Given the description of an element on the screen output the (x, y) to click on. 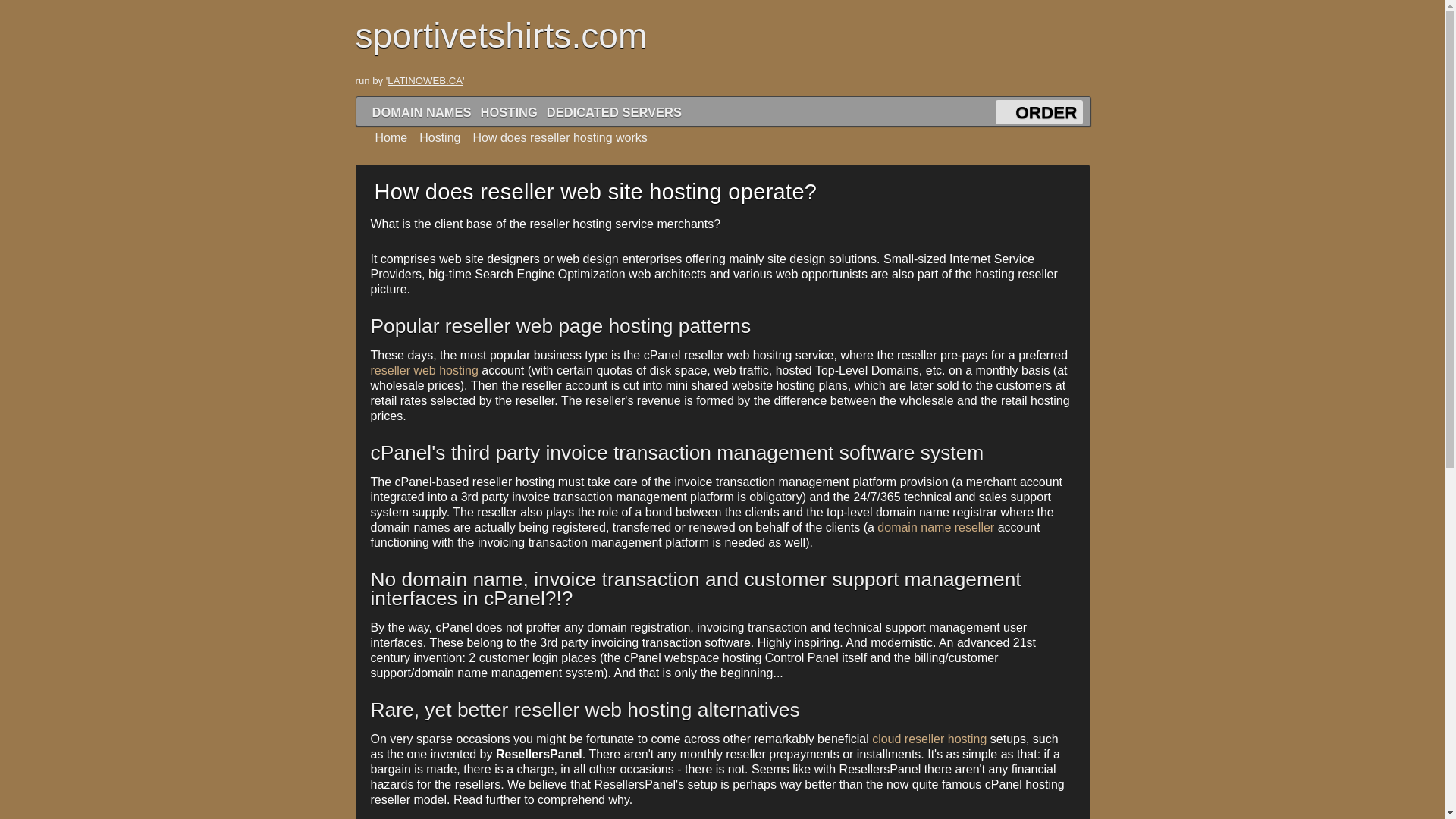
Hosting (433, 137)
Home (384, 137)
domain name reseller (935, 526)
DOMAIN NAMES (422, 112)
reseller web hosting (423, 369)
DEDICATED SERVERS (614, 112)
HOSTING (509, 112)
LATINOWEB.CA (425, 80)
cloud reseller hosting (929, 738)
ORDER (1045, 112)
